Given the description of an element on the screen output the (x, y) to click on. 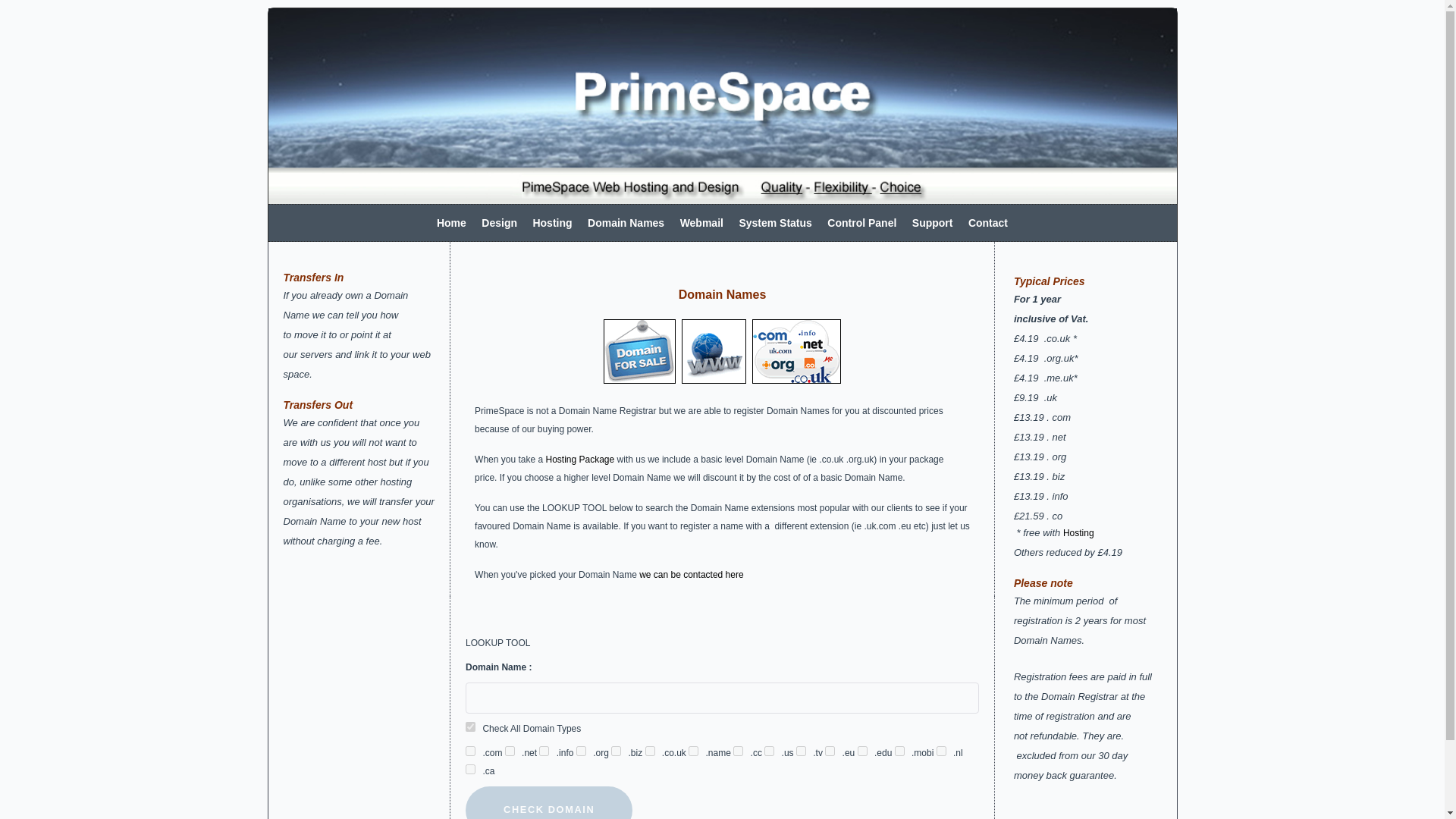
on (470, 750)
Control Panel (861, 223)
Domain Names (625, 223)
on (693, 750)
on (941, 750)
Hosting Package (579, 459)
on (899, 750)
on (470, 726)
on (470, 768)
Design (498, 223)
